Given the description of an element on the screen output the (x, y) to click on. 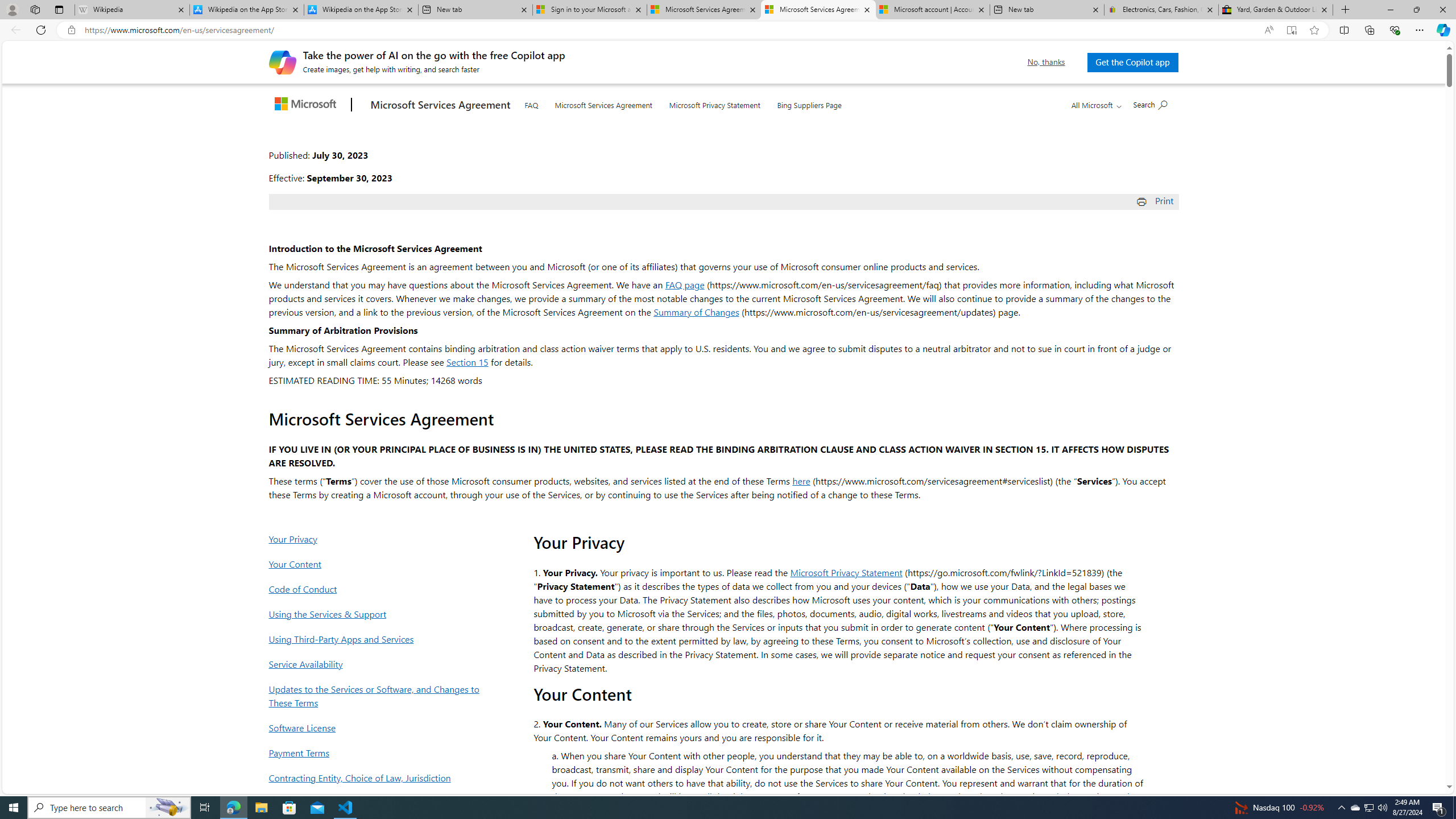
Sign in to your Microsoft account (589, 9)
Yard, Garden & Outdoor Living (1276, 9)
Service Availability (376, 663)
Microsoft Services Agreement (603, 103)
Software License (376, 727)
Microsoft account | Account Checkup (932, 9)
here (801, 480)
FAQ (531, 103)
Microsoft Services Agreement (818, 9)
Your Privacy (376, 538)
Create images, get help with writing, and search faster (282, 62)
Microsoft Services Agreement (604, 103)
